Given the description of an element on the screen output the (x, y) to click on. 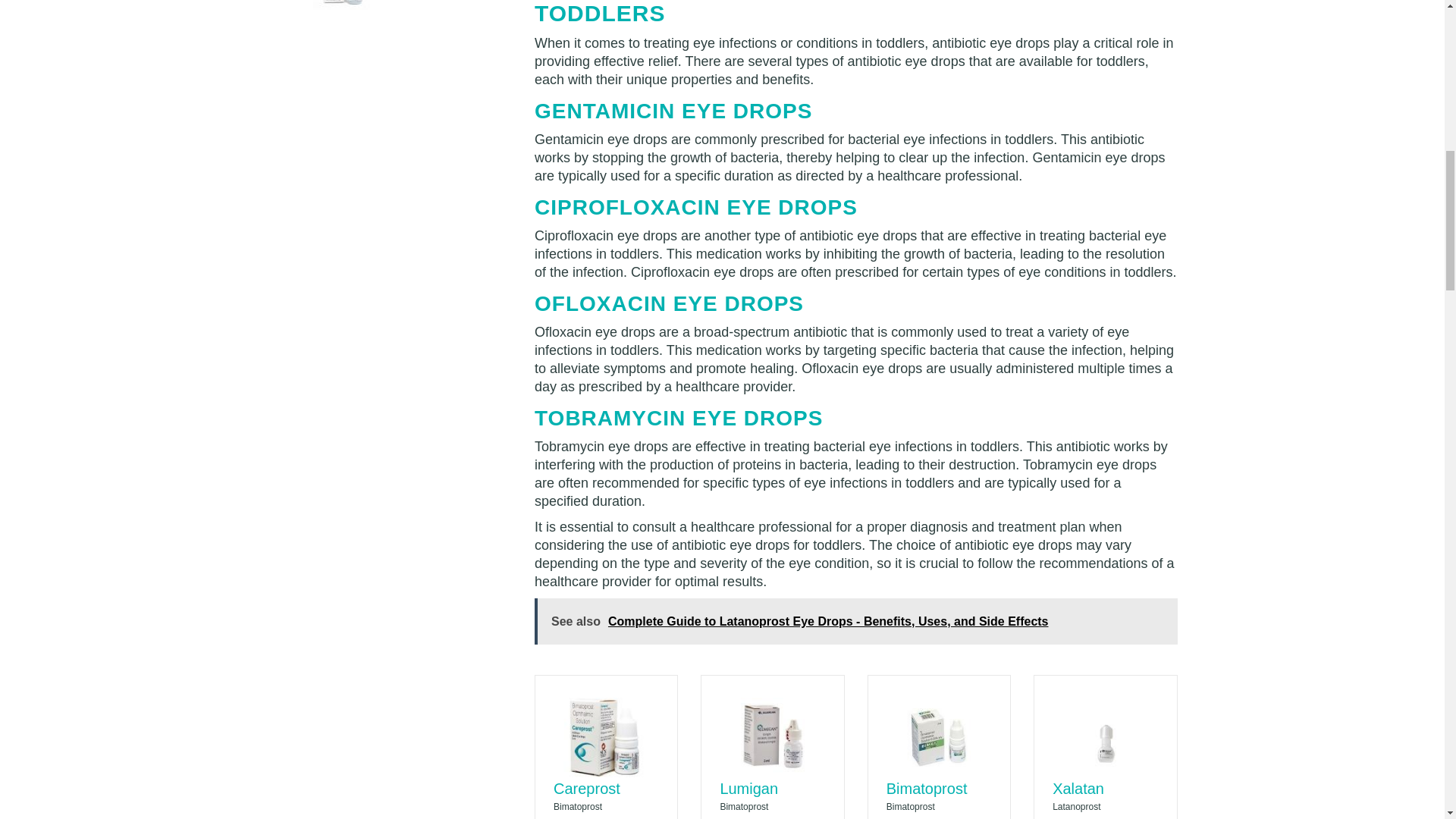
Lumigan (748, 788)
Xalatan (1077, 788)
Careprost (586, 788)
Bimatoprost (927, 788)
